Given the description of an element on the screen output the (x, y) to click on. 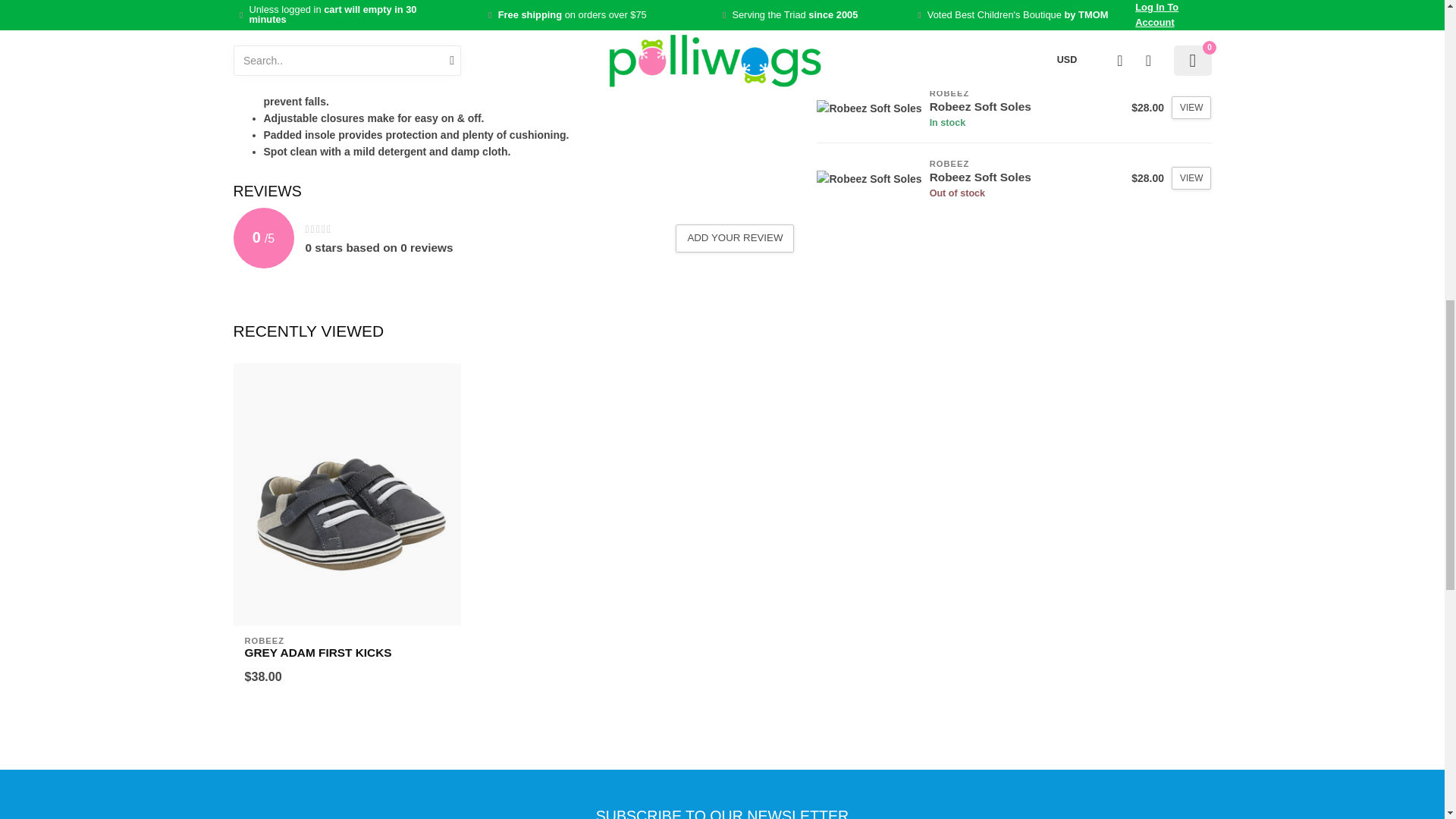
Robeez Soft Soles (868, 108)
Robeez Grey Adam First Kicks (346, 653)
Robeez Soft Soles (868, 178)
Robeez Brianna Shoe (876, 36)
